Given the description of an element on the screen output the (x, y) to click on. 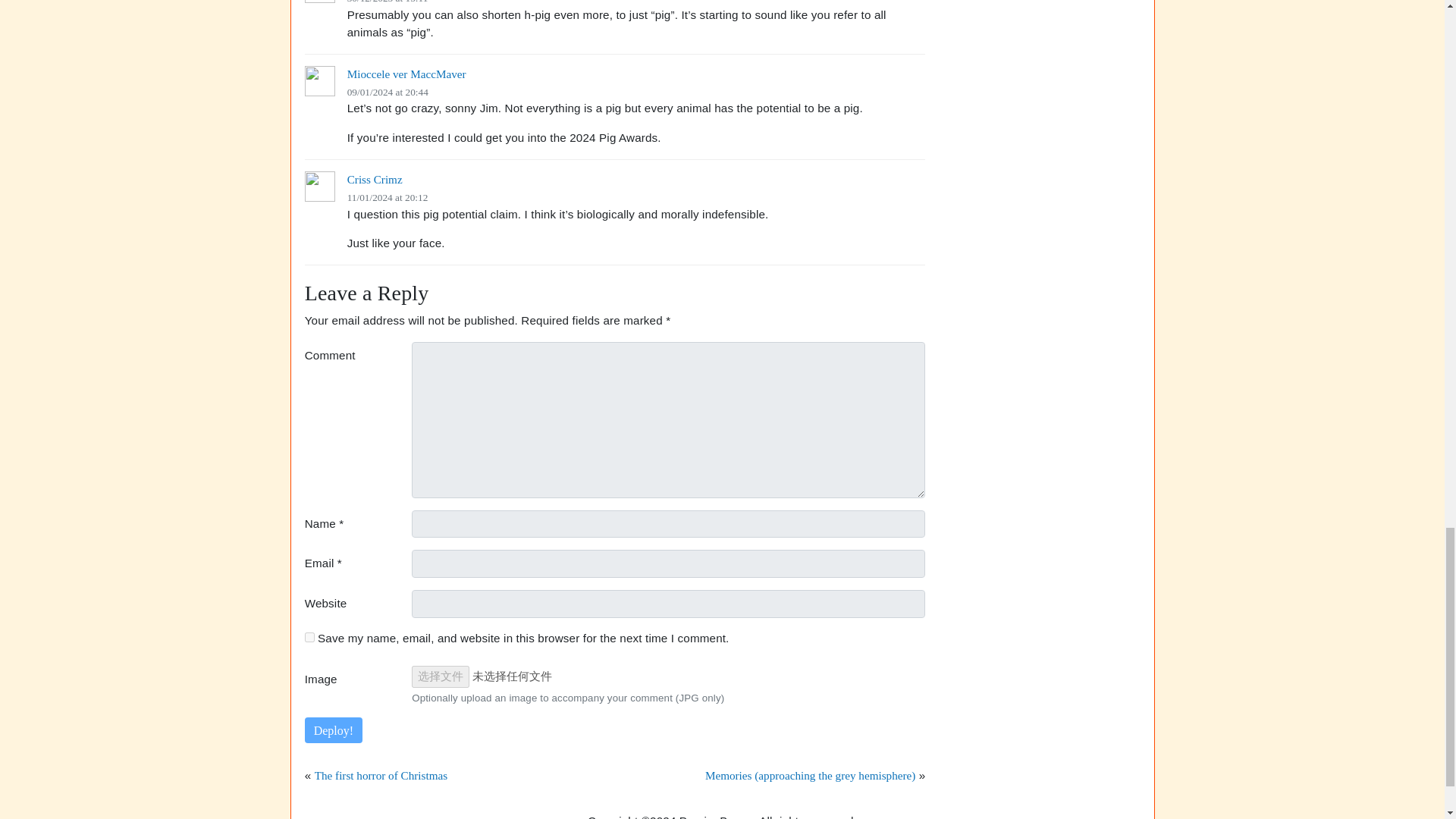
Deploy! (333, 729)
Mioccele ver MaccMaver (406, 73)
The first horror of Christmas (380, 775)
Deploy! (333, 729)
yes (309, 637)
Criss Crimz (375, 178)
